Given the description of an element on the screen output the (x, y) to click on. 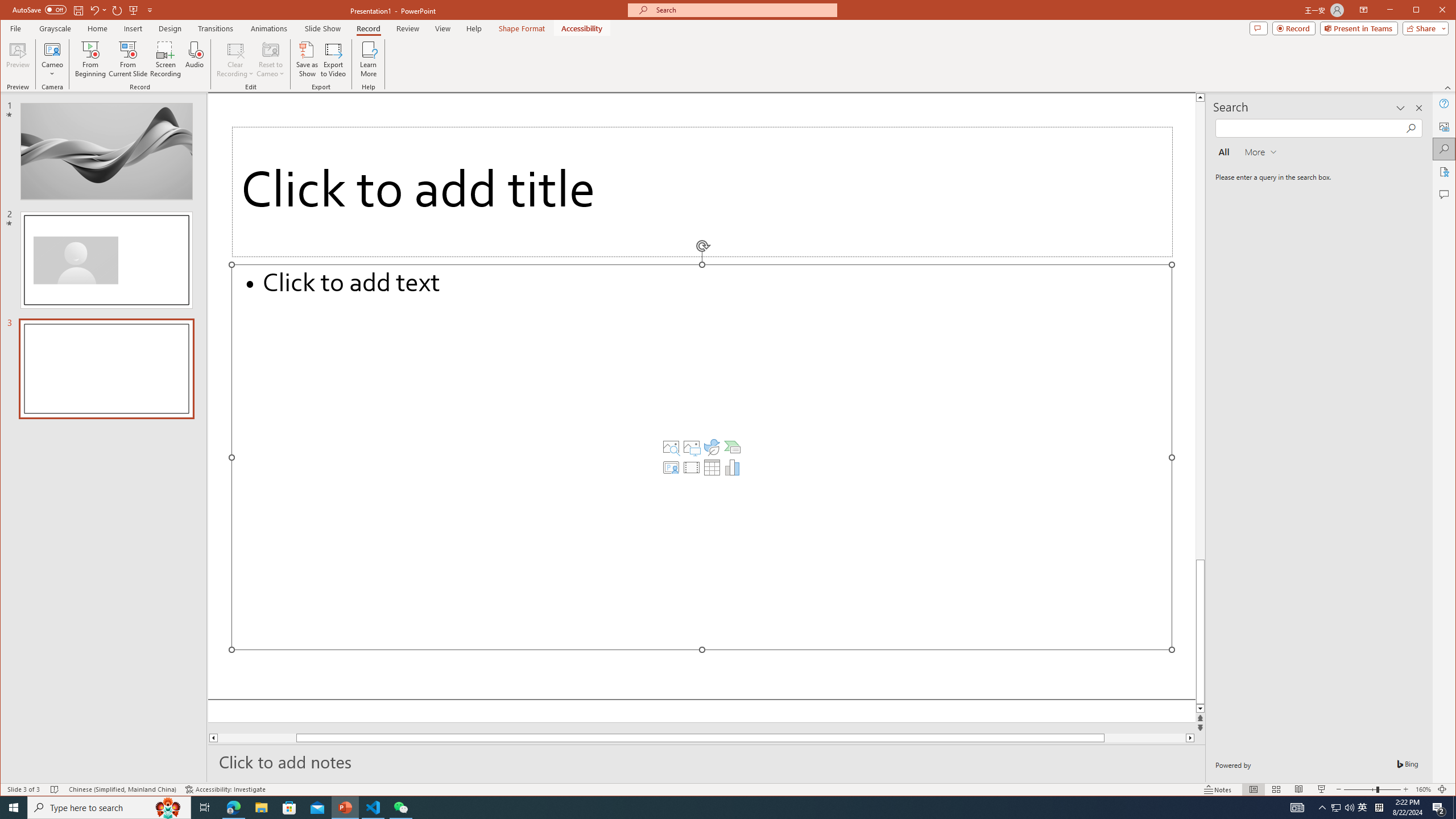
Insert Chart (732, 467)
Insert an Icon (711, 447)
Insert a SmartArt Graphic (732, 447)
Zoom 160% (1422, 789)
Reset to Cameo (269, 59)
